Given the description of an element on the screen output the (x, y) to click on. 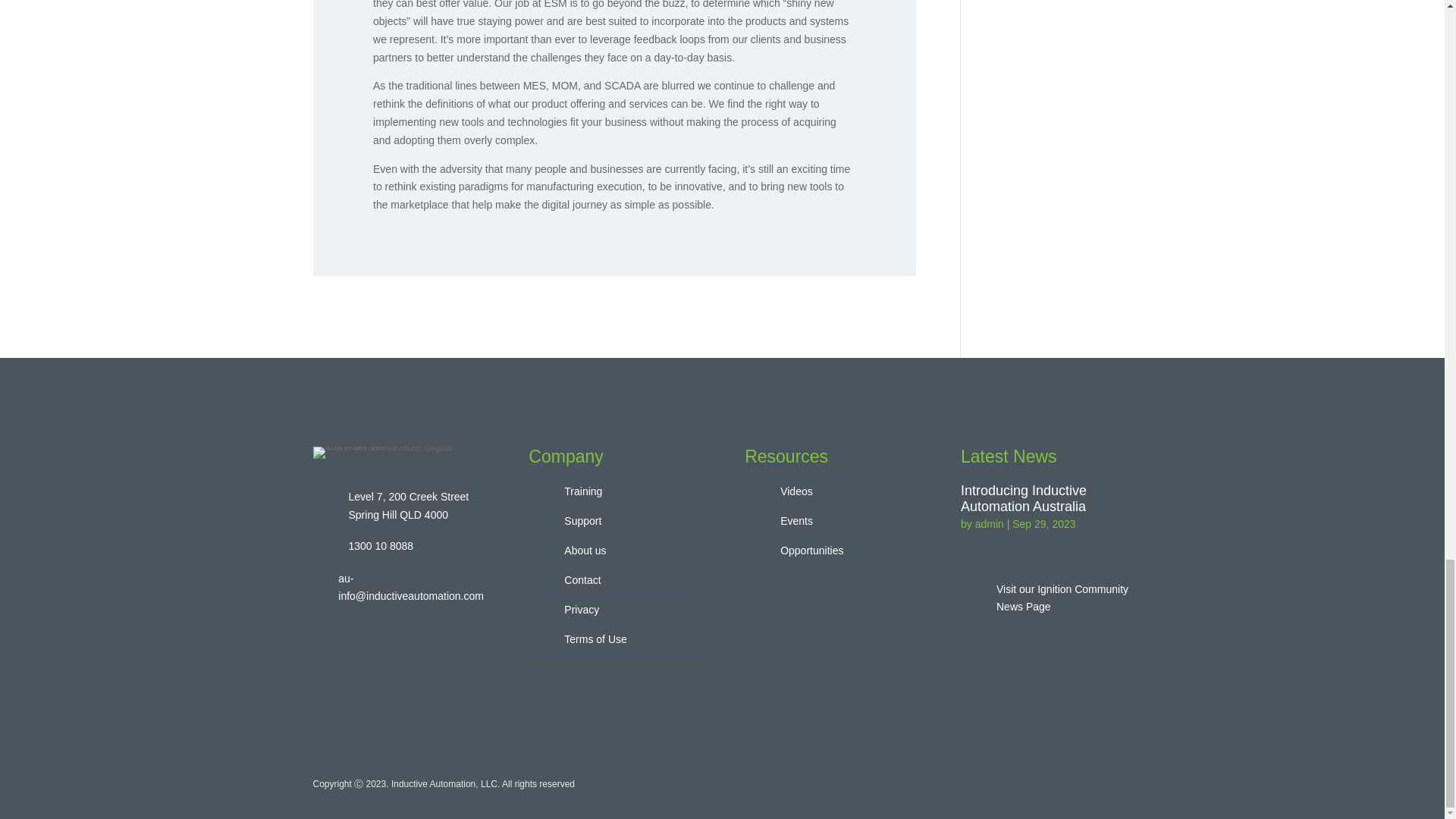
Training (583, 491)
Posts by admin (989, 523)
Ignition Community News (1061, 598)
Support (582, 521)
IA AU Logo - Inverse (398, 452)
